Given the description of an element on the screen output the (x, y) to click on. 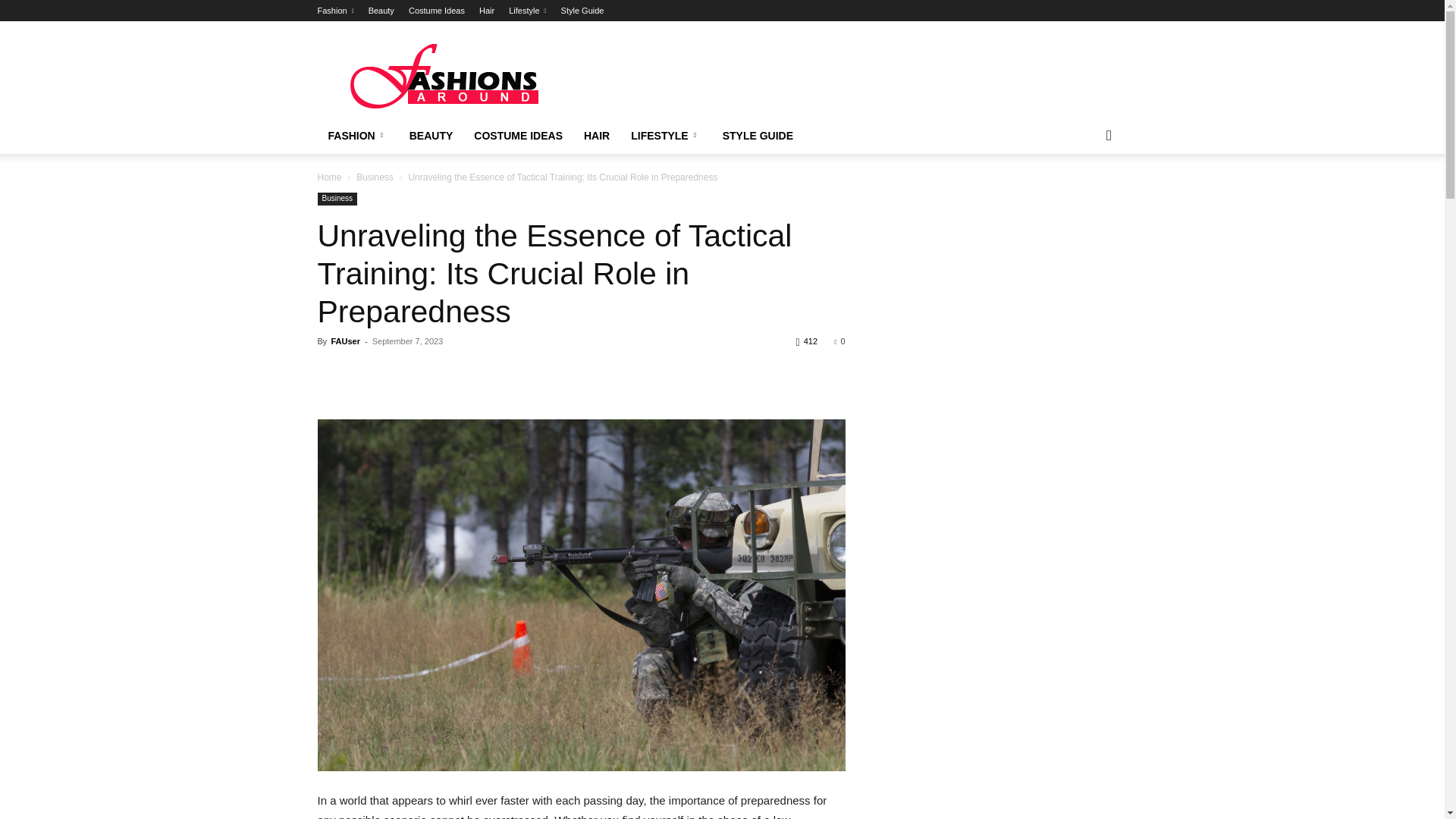
Fashion (335, 10)
LIFESTYLE (665, 135)
Style Guide (582, 10)
COSTUME IDEAS (518, 135)
HAIR (596, 135)
BEAUTY (431, 135)
View all posts in Business (374, 176)
Lifestyle (527, 10)
Beauty (381, 10)
